Given the description of an element on the screen output the (x, y) to click on. 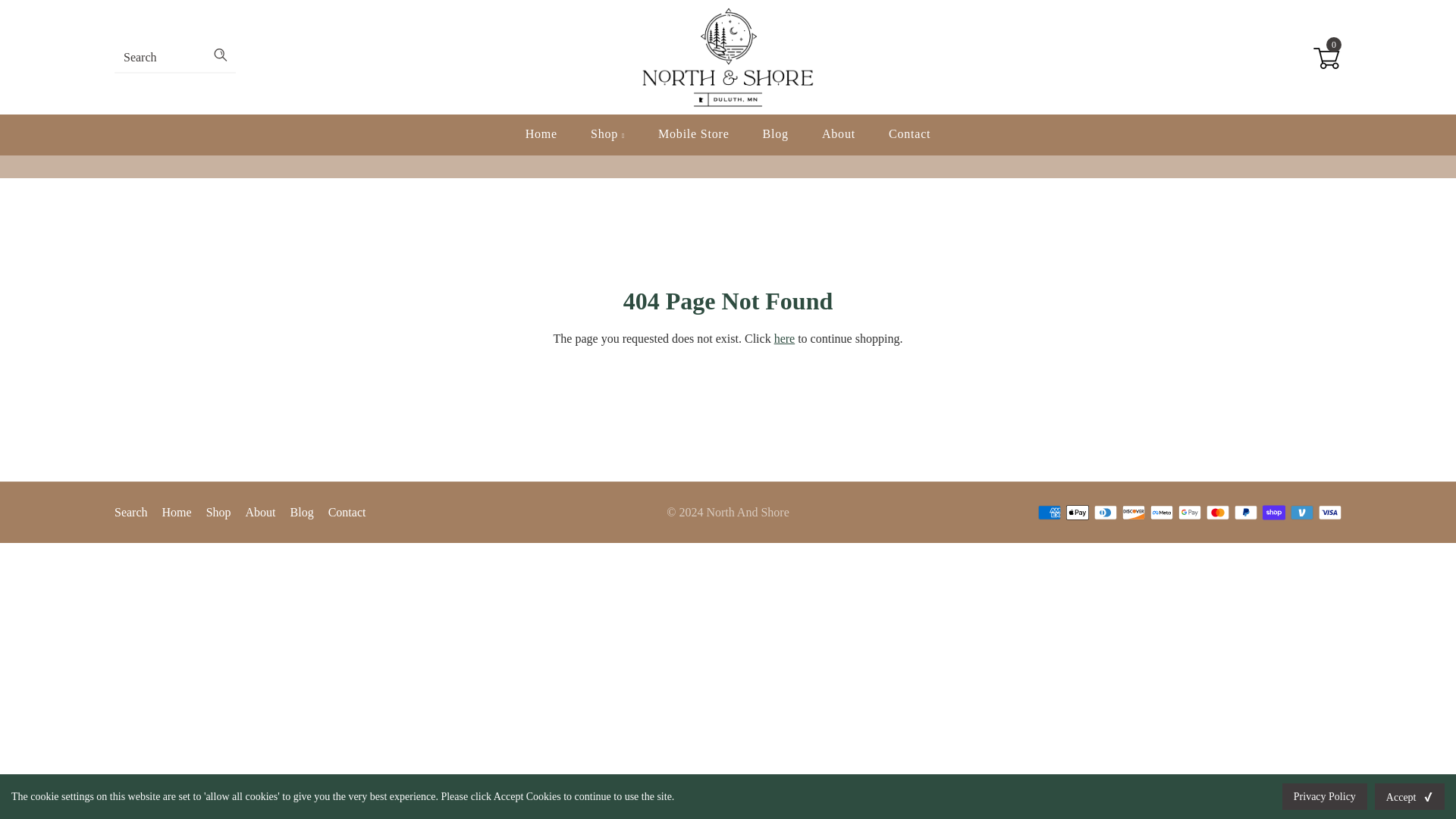
Venmo (1301, 512)
Home (176, 512)
Contact (909, 133)
here (784, 338)
Visa (1329, 512)
Blog (301, 512)
Contact (347, 512)
Shop Pay (1273, 512)
Search (131, 512)
Apple Pay (1077, 512)
Shop (218, 512)
PayPal (1245, 512)
Meta Pay (1161, 512)
Mobile Store (693, 133)
Google Pay (1189, 512)
